Given the description of an element on the screen output the (x, y) to click on. 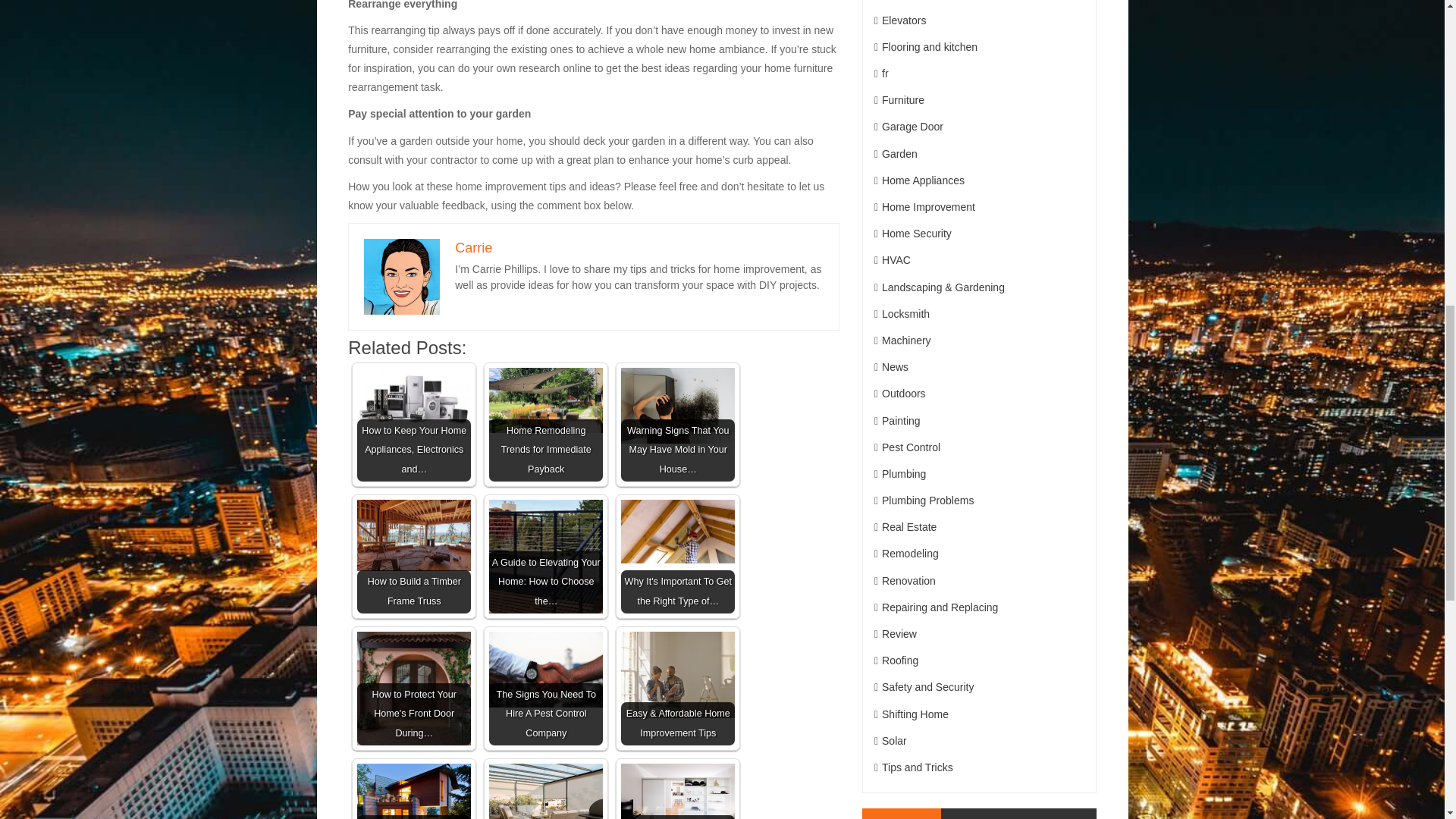
Carrie Phillips (401, 276)
The Signs You Need To Hire A Pest Control Company (545, 688)
The Signs You Need To Hire A Pest Control Company (545, 669)
Carrie (473, 247)
How to Build a Timber Frame Truss (413, 535)
Home Remodeling Trends for Immediate Payback (545, 424)
